Given the description of an element on the screen output the (x, y) to click on. 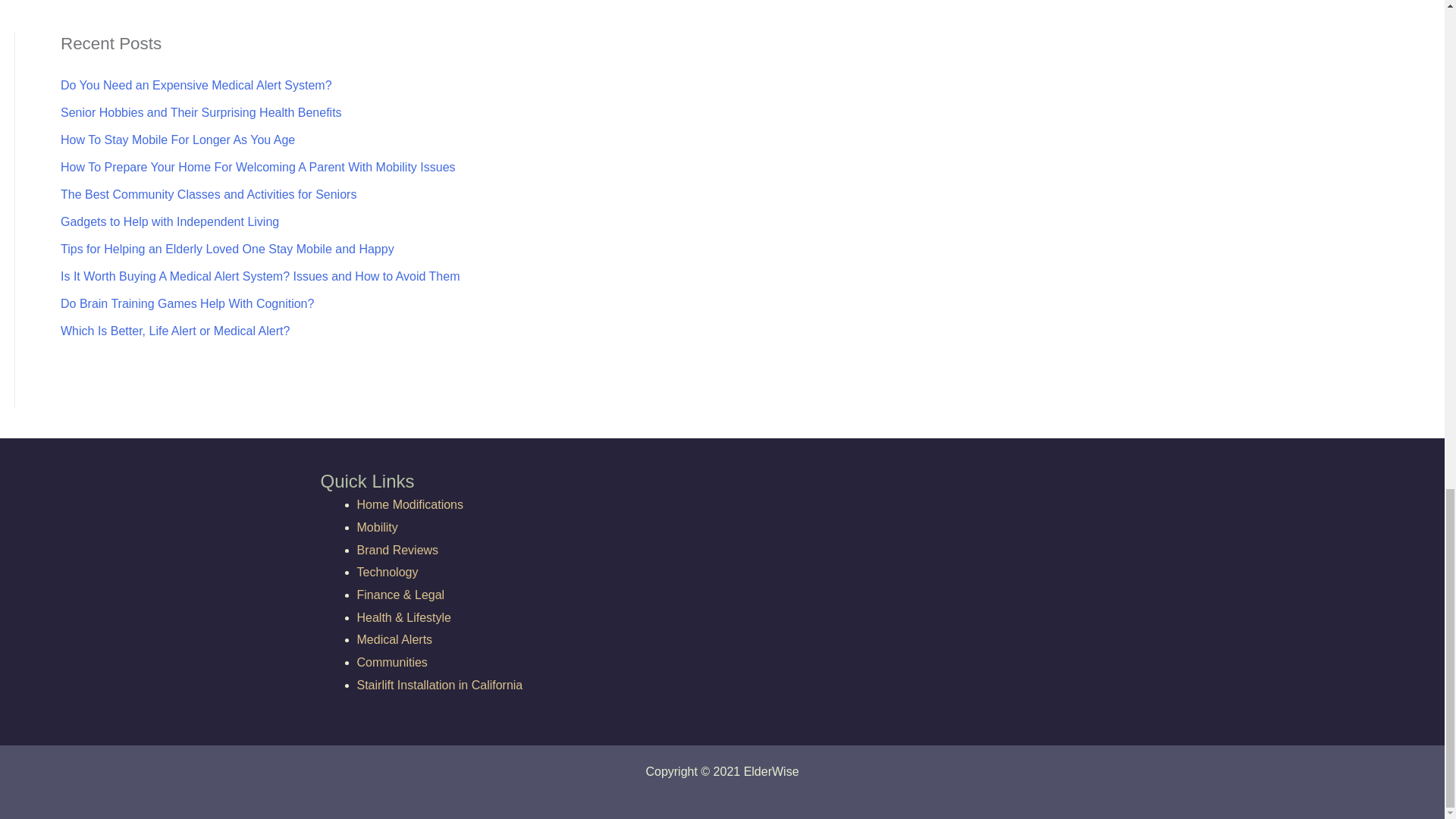
Which Is Better, Life Alert or Medical Alert? (175, 330)
Technology (386, 571)
Tips for Helping an Elderly Loved One Stay Mobile and Happy (227, 248)
How To Stay Mobile For Longer As You Age (178, 139)
The Best Community Classes and Activities for Seniors (208, 194)
Do Brain Training Games Help With Cognition? (187, 303)
Senior Hobbies and Their Surprising Health Benefits (201, 112)
Brand Reviews (397, 549)
Communities (391, 662)
Stairlift Installation in California (439, 684)
Medical Alerts (394, 639)
Do You Need an Expensive Medical Alert System? (196, 84)
Mobility (376, 526)
